Given the description of an element on the screen output the (x, y) to click on. 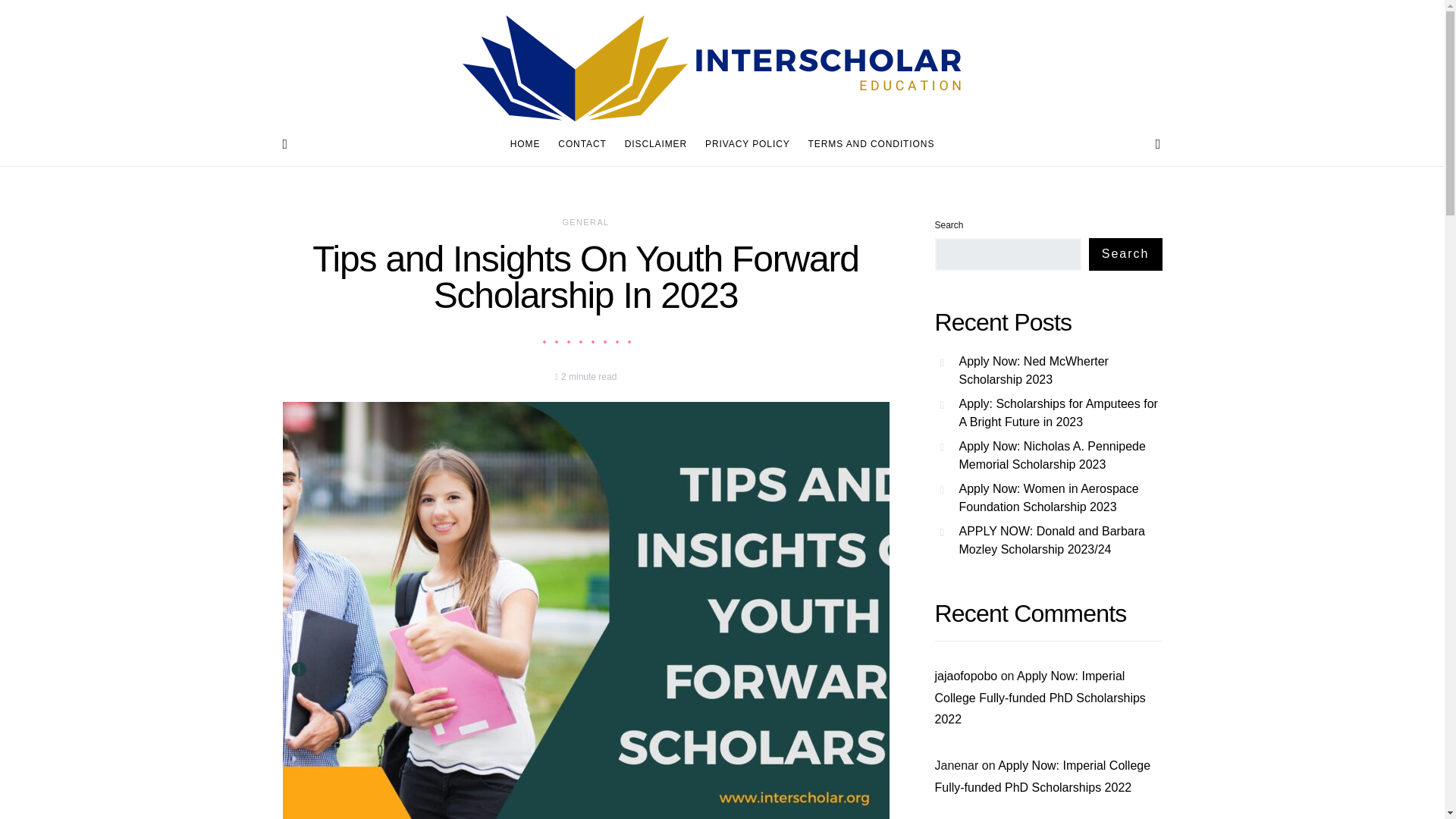
PRIVACY POLICY (747, 144)
GENERAL (585, 221)
DISCLAIMER (655, 144)
TERMS AND CONDITIONS (866, 144)
CONTACT (581, 144)
